Given the description of an element on the screen output the (x, y) to click on. 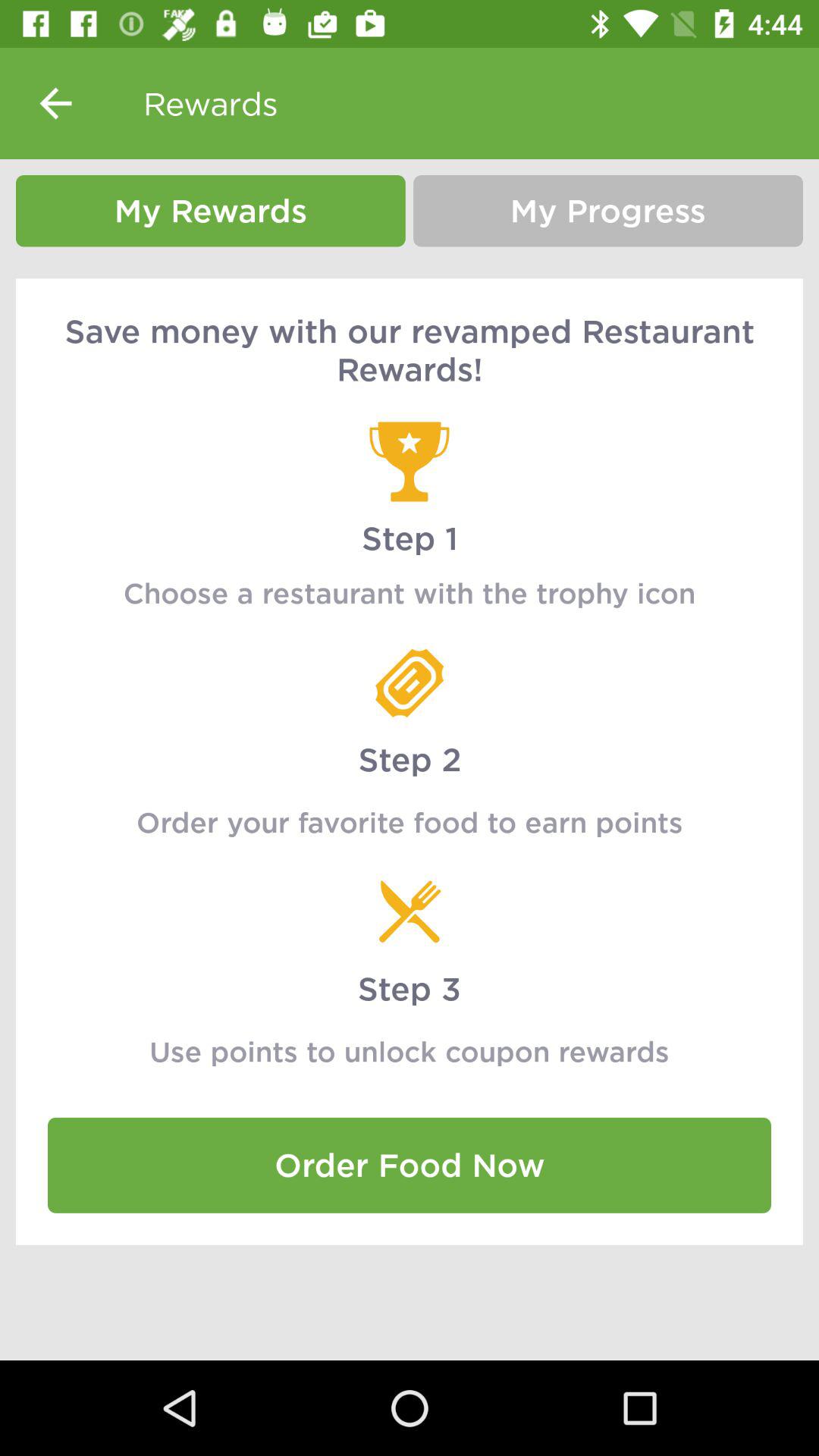
launch the icon to the right of my rewards (608, 210)
